Given the description of an element on the screen output the (x, y) to click on. 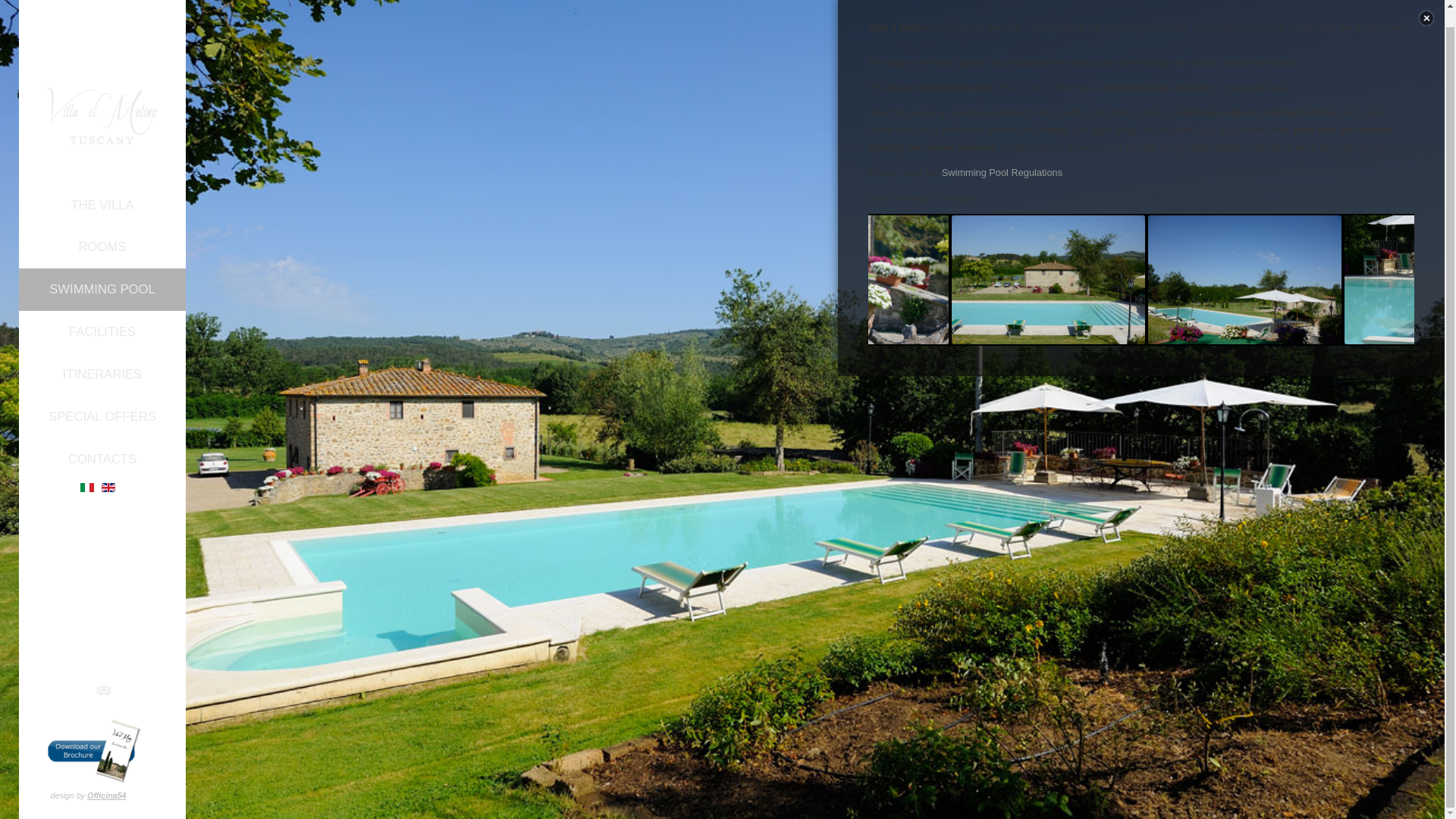
Swimming Pool Regulations (1002, 172)
CONTACTS (102, 442)
Officina54 (106, 777)
Facebook (72, 672)
THE VILLA (102, 188)
FACILITIES (102, 315)
SWIMMING POOL (102, 272)
ITINERARIES (102, 357)
ROOMS (102, 230)
SPECIAL OFFERS (102, 400)
